Given the description of an element on the screen output the (x, y) to click on. 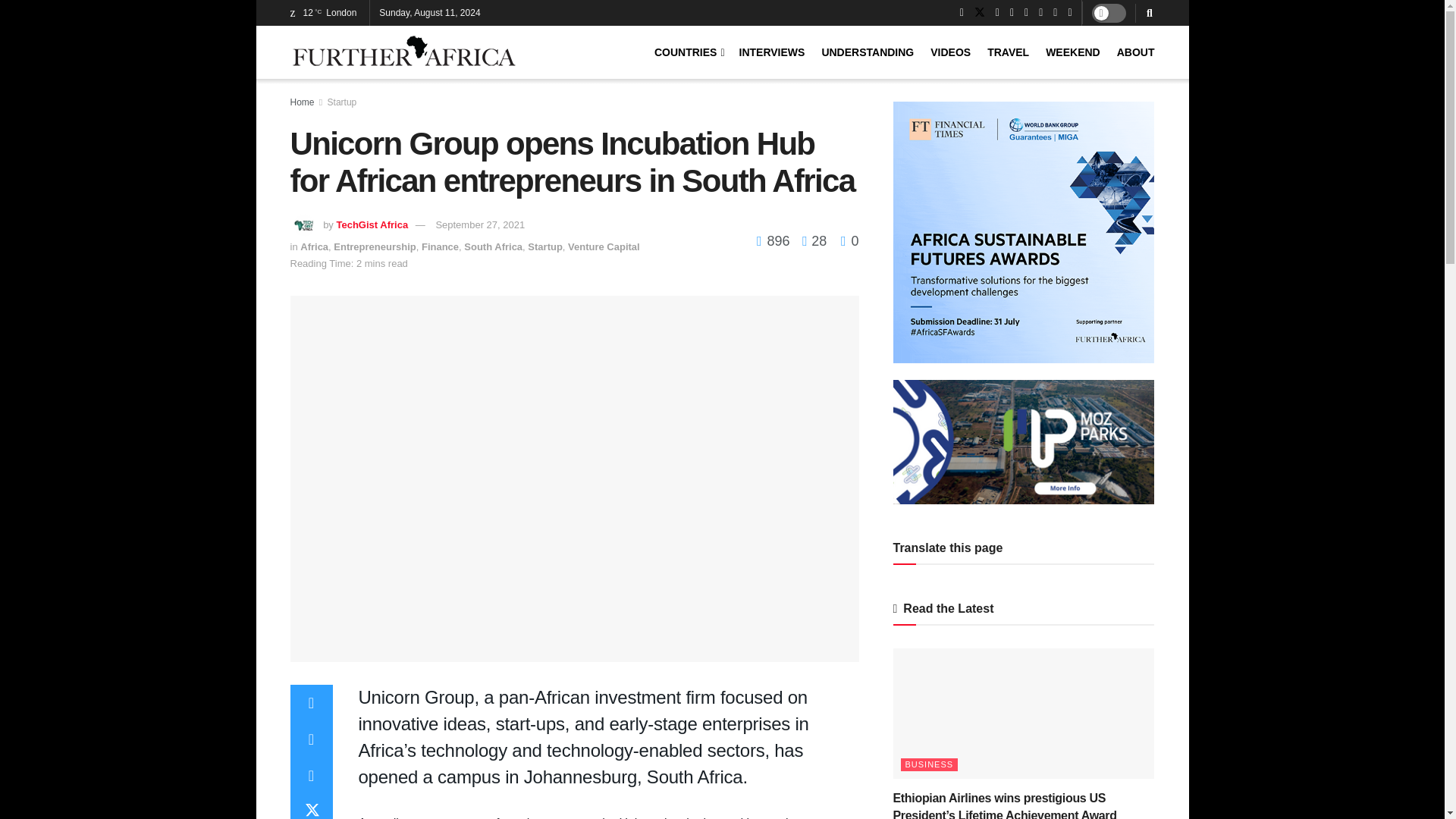
UNDERSTANDING (867, 51)
INTERVIEWS (772, 51)
COUNTRIES (687, 51)
WEEKEND (1072, 51)
